Given the description of an element on the screen output the (x, y) to click on. 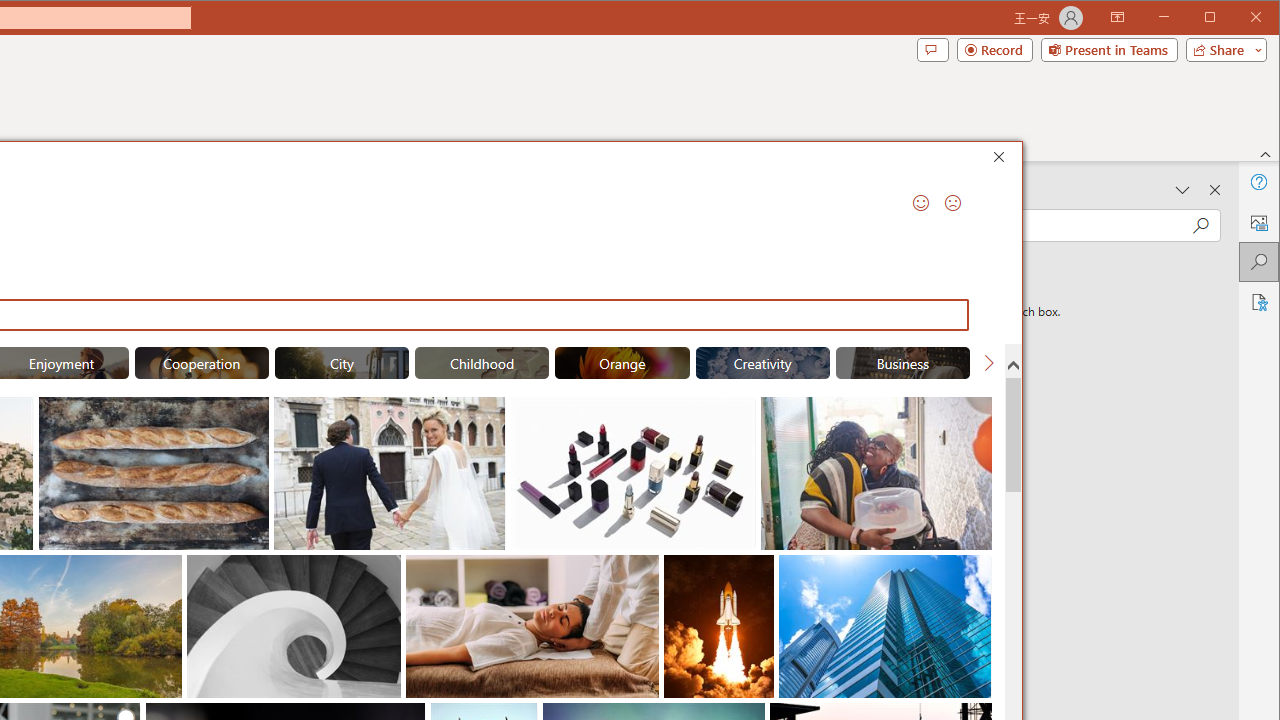
Next Search Suggestion (988, 362)
Send a Smile (920, 202)
Maximize (1238, 18)
"Business" Stock Images. (902, 362)
"Creativity" Stock Images. (762, 362)
"Cooperation" Stock Images. (201, 362)
